Given the description of an element on the screen output the (x, y) to click on. 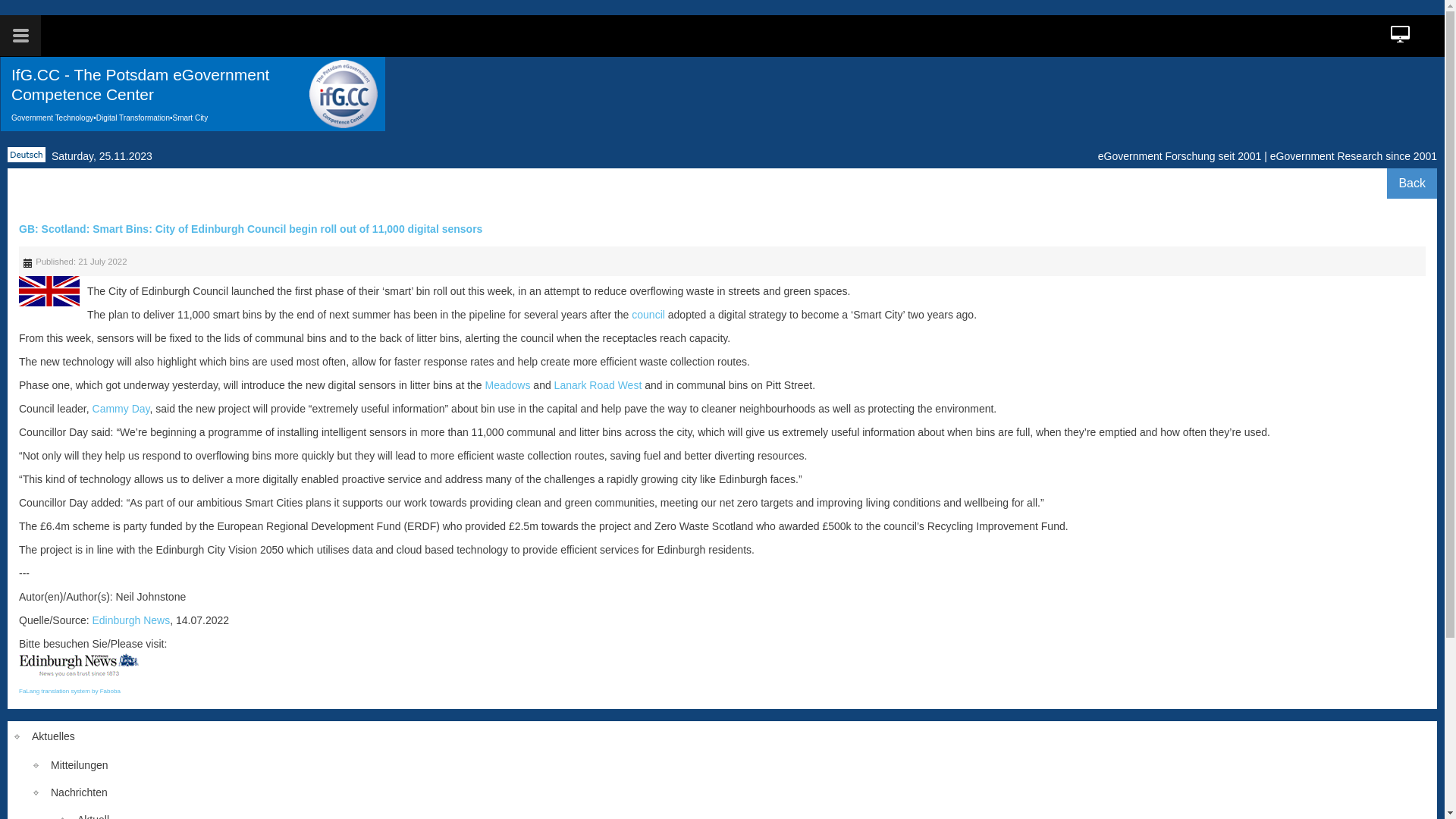
Mitteilungen Element type: text (722, 764)
Deutsch Element type: hover (26, 154)
Aktuelles Element type: text (722, 736)
Nachrichten Element type: text (722, 792)
Cammy Day Element type: text (121, 408)
FaLang translation system by Faboba Element type: text (69, 690)
Back Element type: text (1411, 183)
Meadows Element type: text (507, 385)
Lanark Road West Element type: text (598, 385)
Edinburgh News Element type: text (131, 620)
council Element type: text (648, 314)
